Given the description of an element on the screen output the (x, y) to click on. 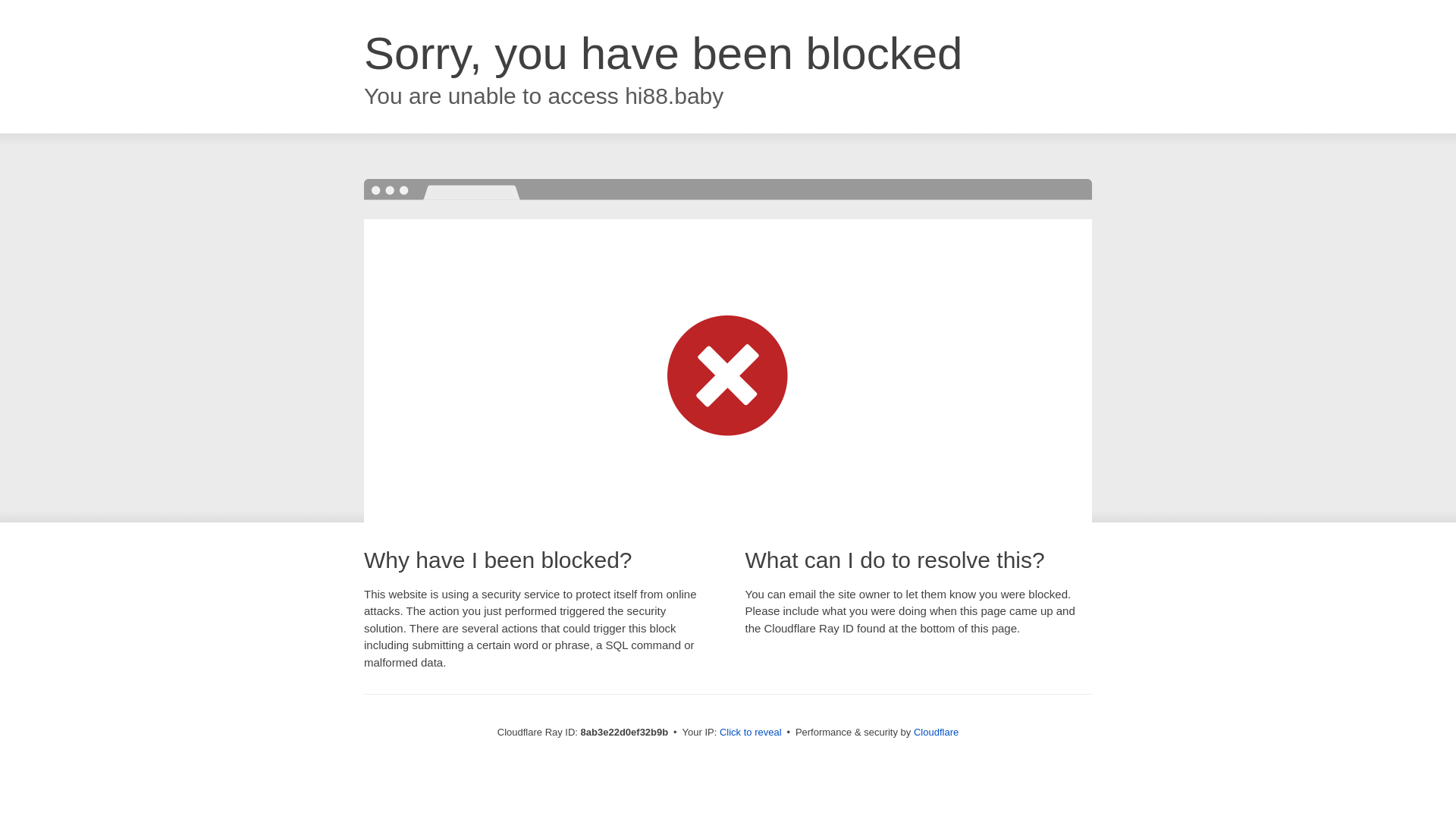
Click to reveal (750, 732)
Cloudflare (936, 731)
